Given the description of an element on the screen output the (x, y) to click on. 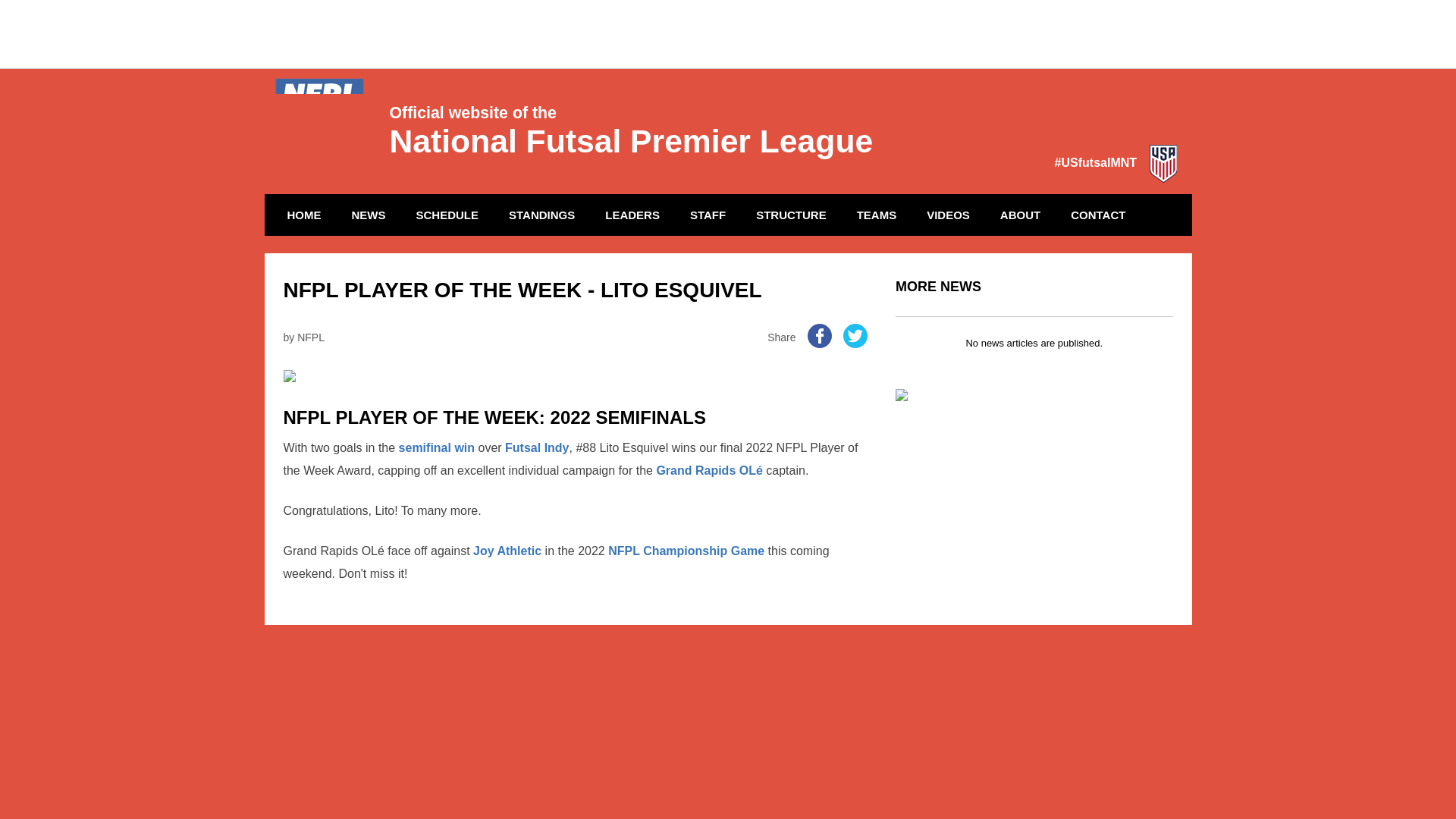
SCHEDULE (447, 214)
STANDINGS (541, 214)
semifinal win (436, 447)
NFPL Championship Game (686, 550)
HOME (304, 214)
STRUCTURE (791, 214)
VIDEOS (948, 214)
Futsal Indy (537, 447)
NEWS (367, 214)
ABOUT (1019, 214)
CONTACT (1098, 214)
LEADERS (632, 214)
TEAMS (876, 214)
STAFF (707, 214)
Joy Athletic (507, 550)
